Given the description of an element on the screen output the (x, y) to click on. 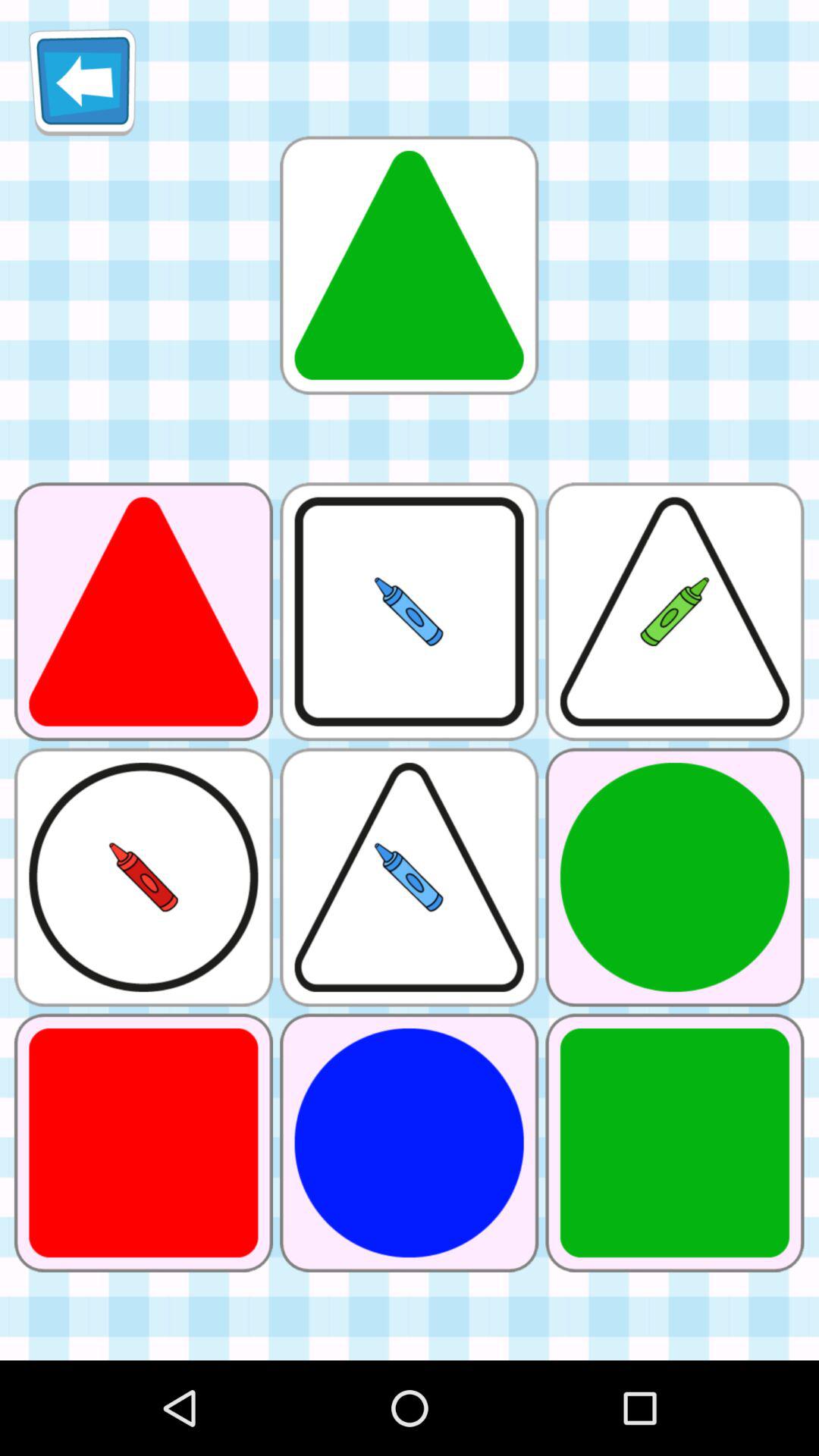
goto previous (82, 82)
